Given the description of an element on the screen output the (x, y) to click on. 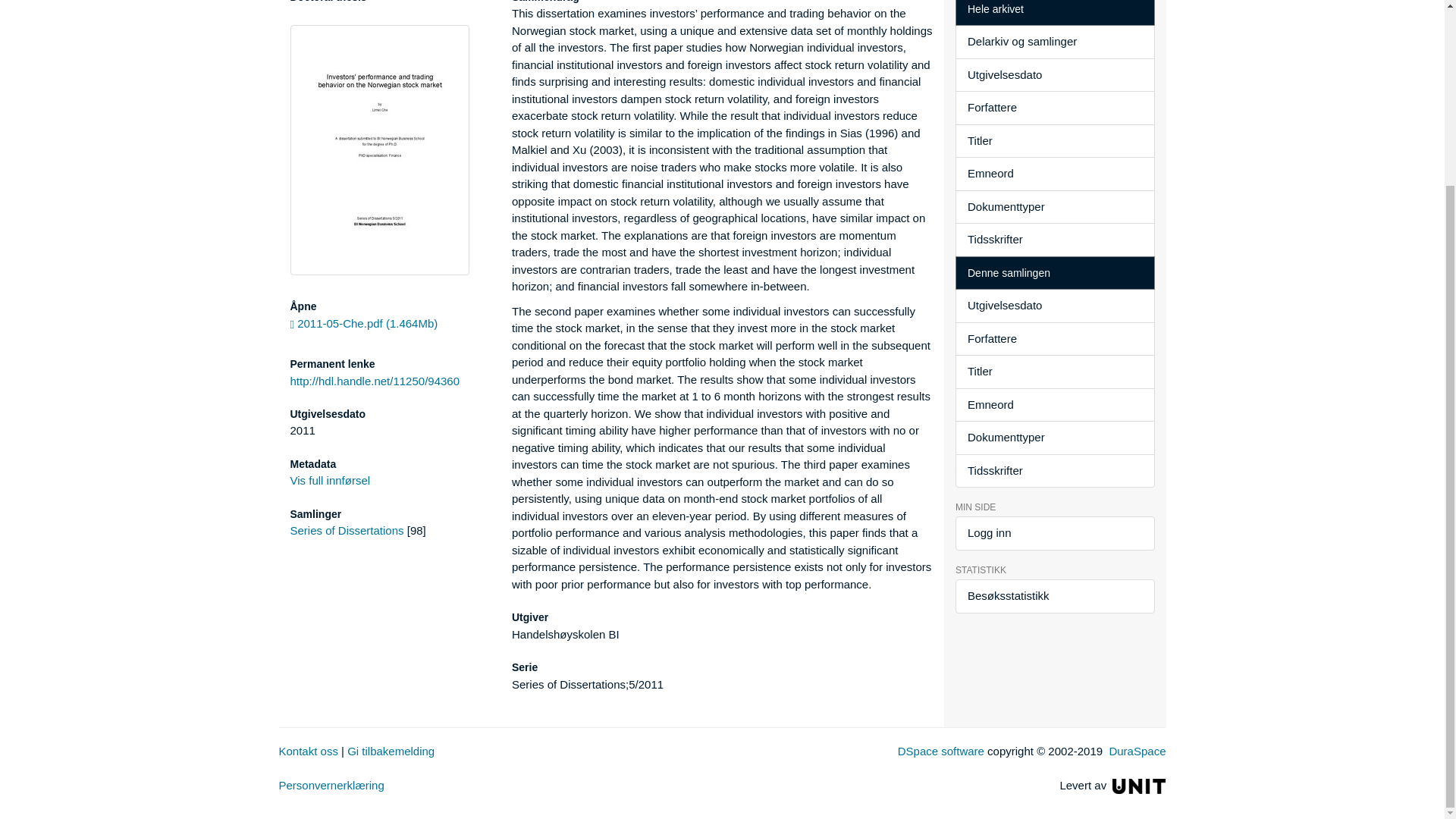
Delarkiv og samlinger (1054, 41)
Forfattere (1054, 107)
Emneord (1054, 173)
Titler (1054, 141)
Unit (1139, 784)
Series of Dissertations (346, 530)
Utgivelsesdato (1054, 75)
Hele arkivet (1054, 13)
